Given the description of an element on the screen output the (x, y) to click on. 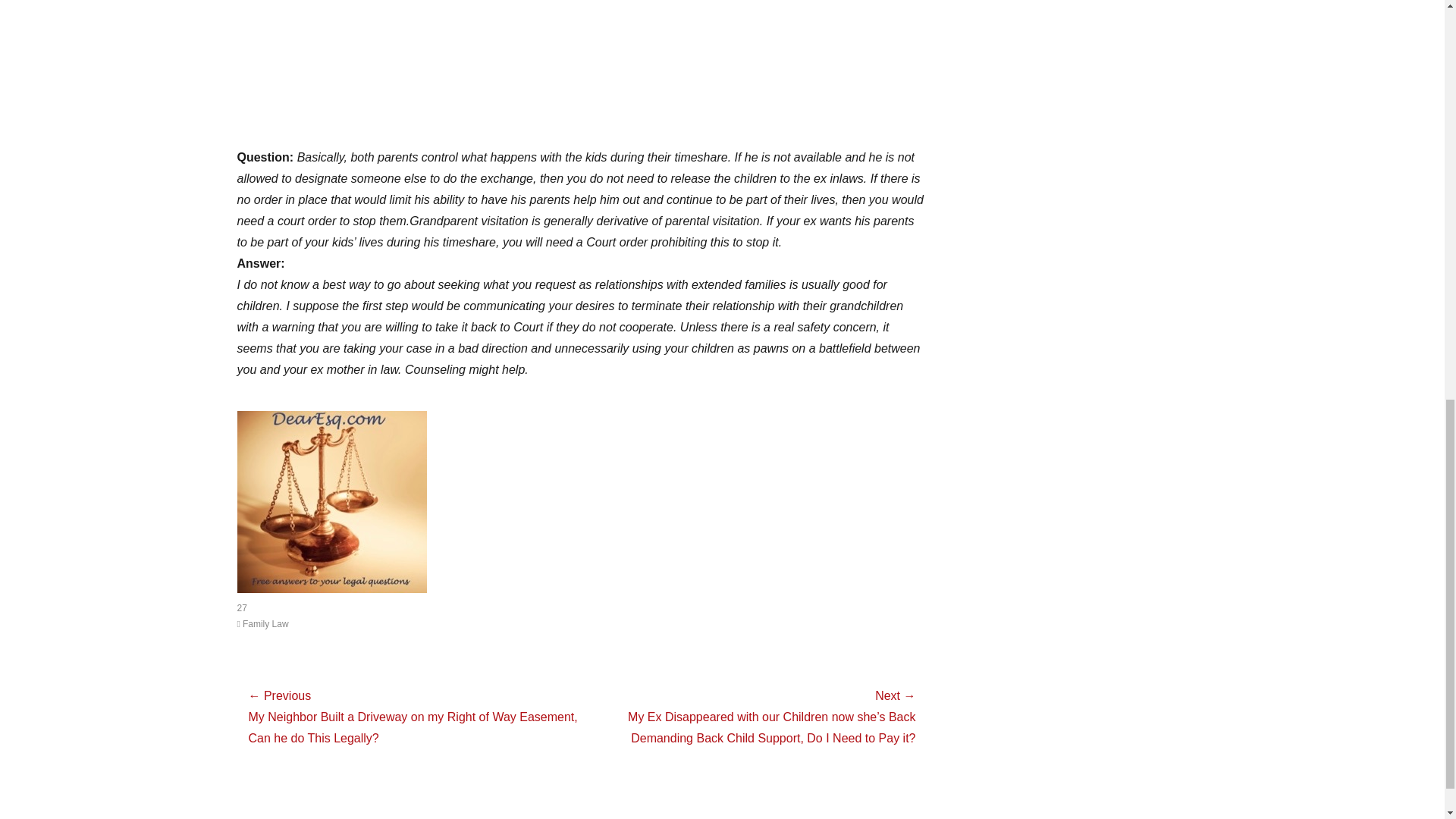
Family Law (261, 624)
Advertisement (580, 73)
